Given the description of an element on the screen output the (x, y) to click on. 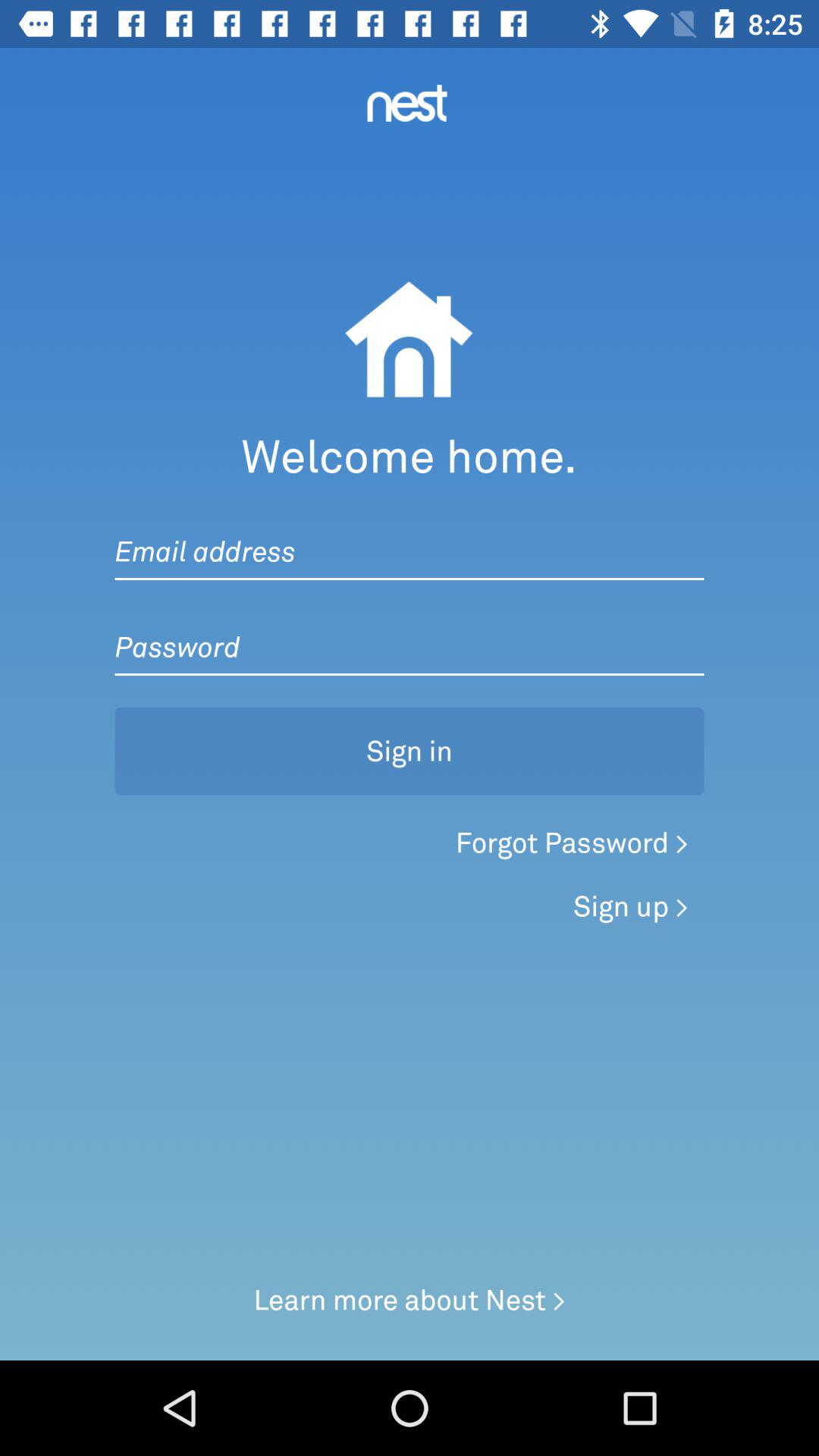
password text box (409, 631)
